Given the description of an element on the screen output the (x, y) to click on. 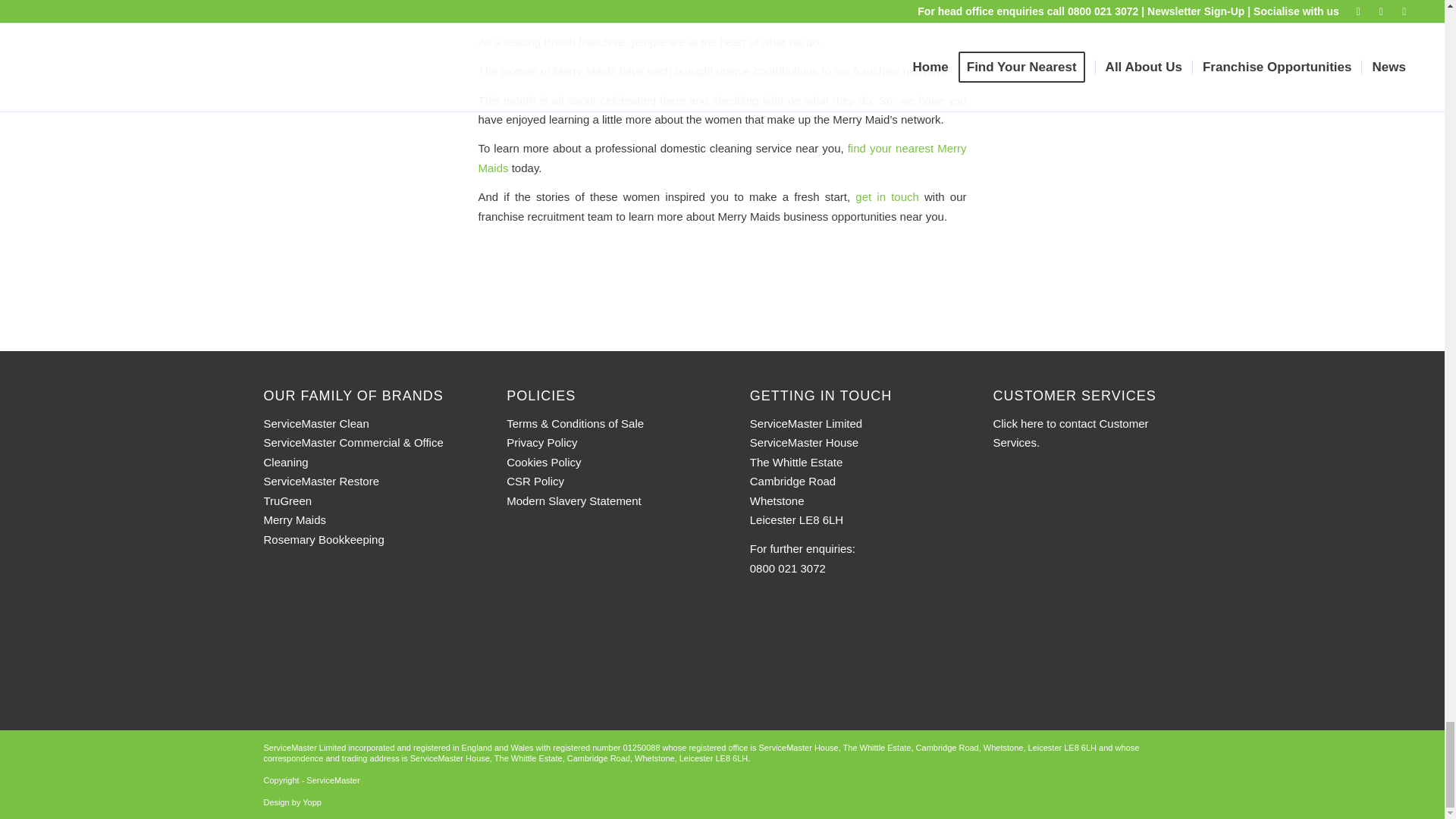
ServiceMaster Clean (316, 422)
ServiceMaster Restore (321, 481)
